Given the description of an element on the screen output the (x, y) to click on. 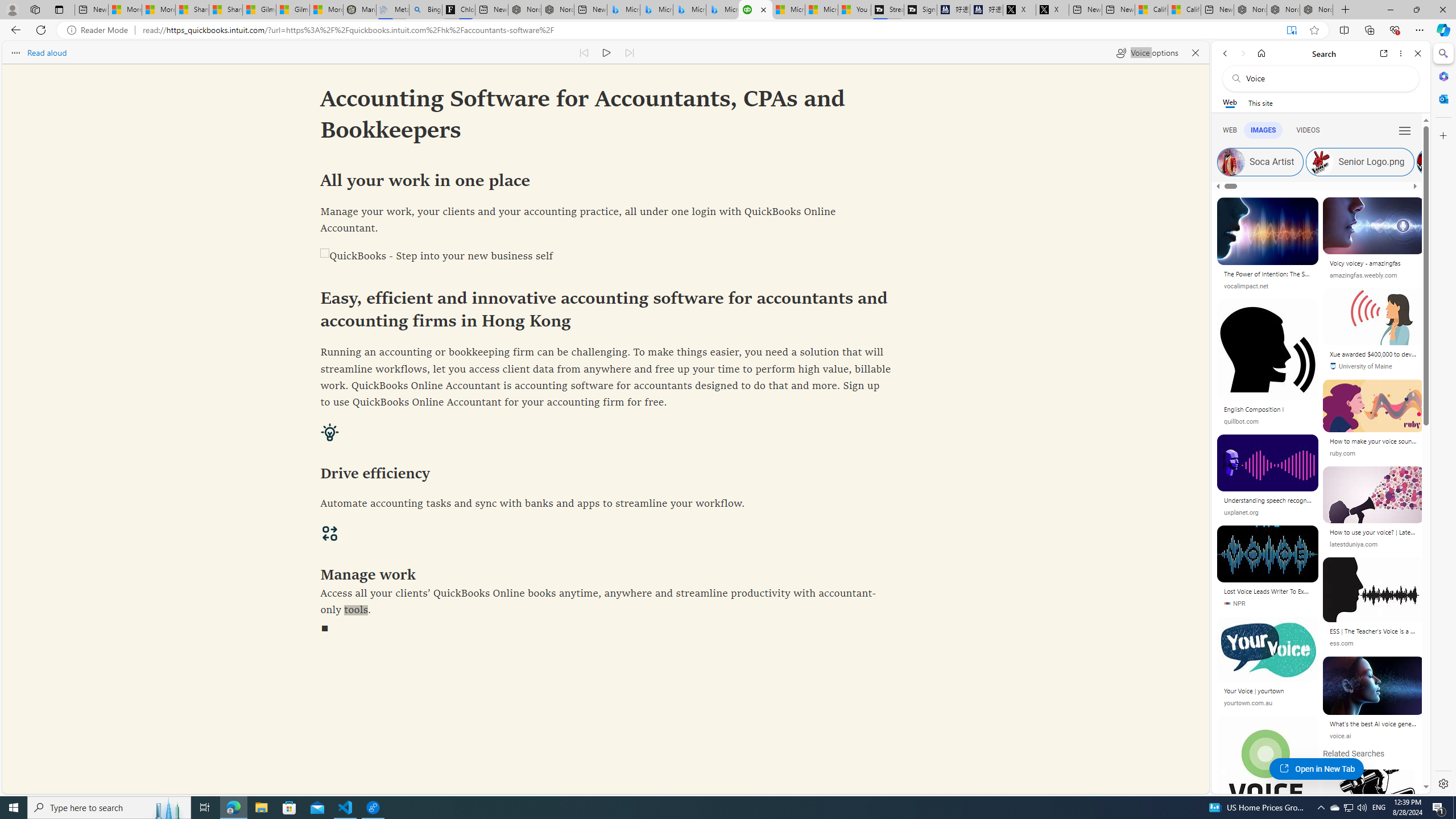
vocalimpact.net (1246, 285)
